Given the description of an element on the screen output the (x, y) to click on. 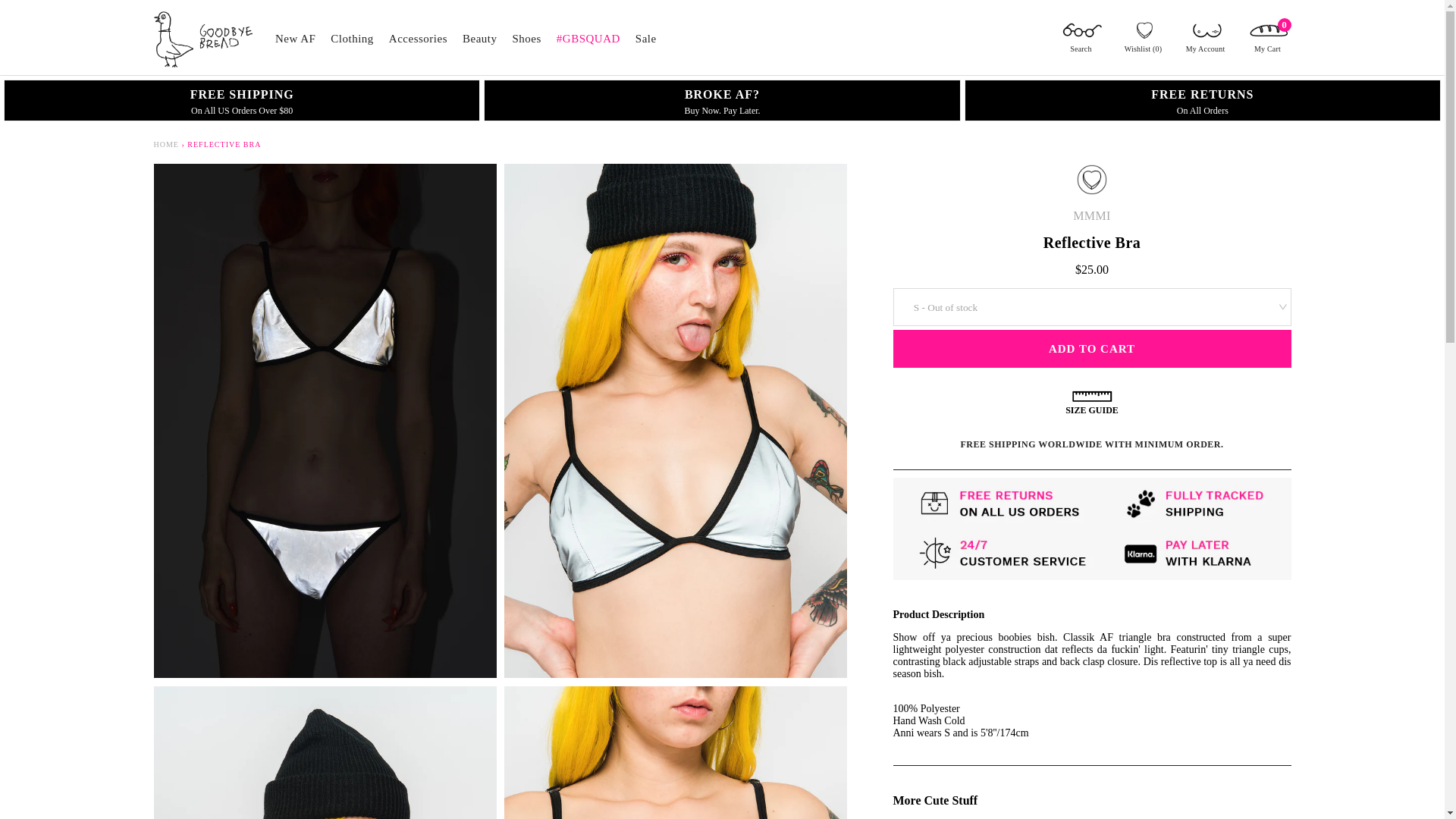
Back to the frontpage (164, 144)
My Account (1204, 38)
My Cart (1266, 38)
Accessories (417, 45)
Search (1080, 38)
